Given the description of an element on the screen output the (x, y) to click on. 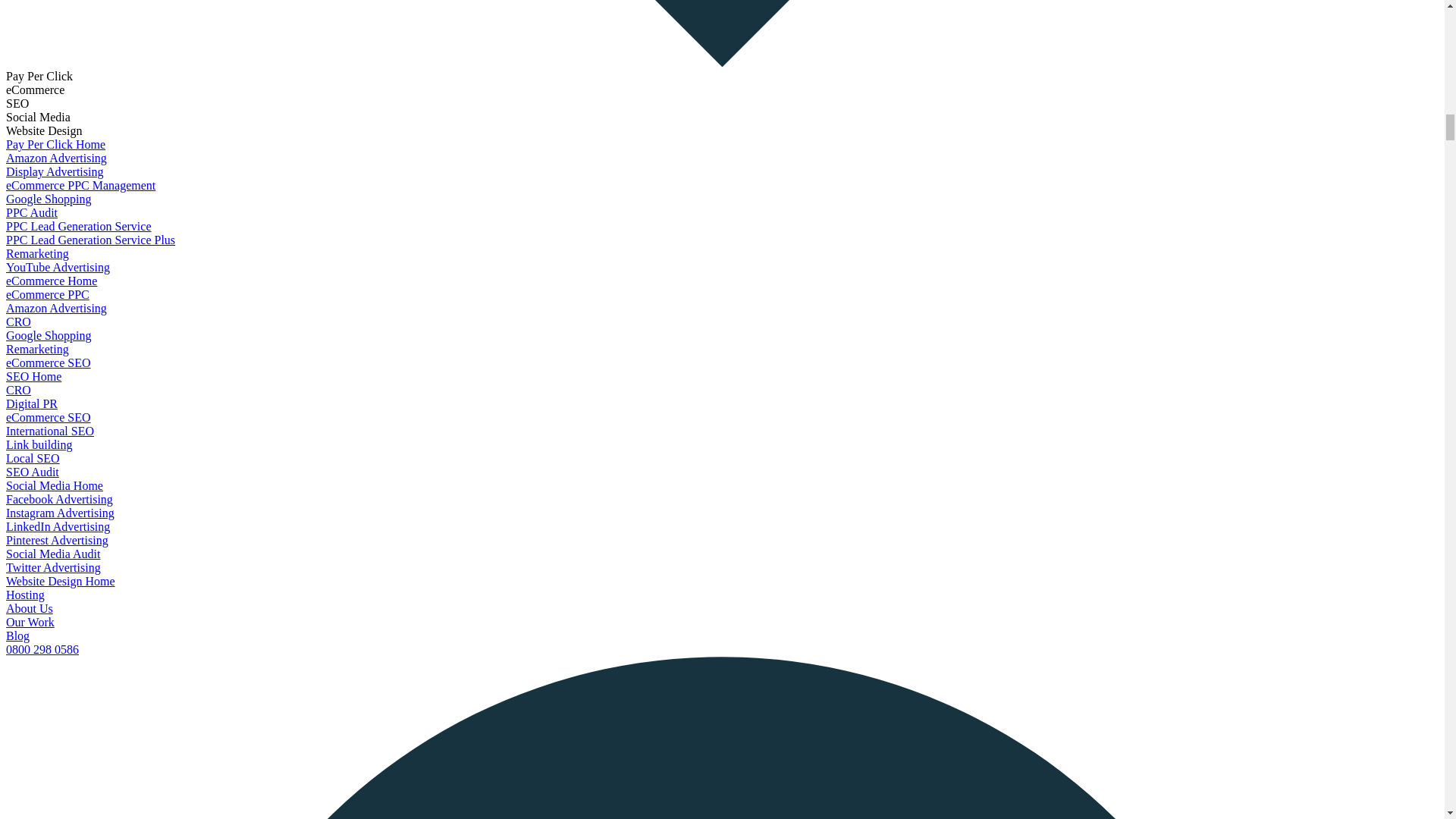
Facebook Advertising (59, 499)
Remarketing (36, 349)
SEO Audit (32, 472)
YouTube Advertising (57, 267)
Amazon Advertising (55, 308)
SEO Home (33, 376)
Google Shopping (47, 198)
Social Media Home (54, 485)
Link building (38, 444)
LinkedIn Advertising (57, 526)
